Given the description of an element on the screen output the (x, y) to click on. 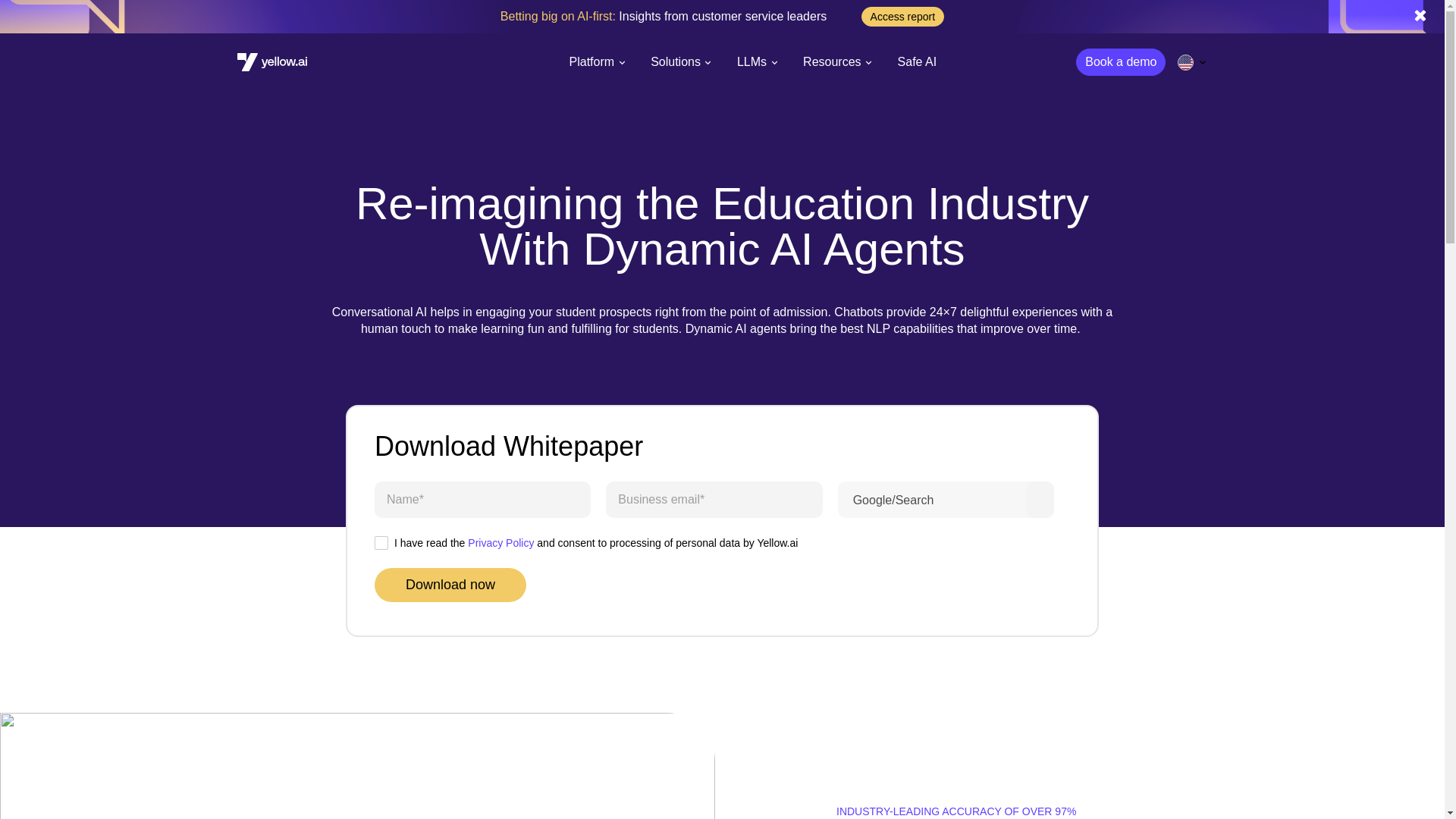
Download now (449, 584)
Safe AI (917, 62)
Access report (902, 16)
